Given the description of an element on the screen output the (x, y) to click on. 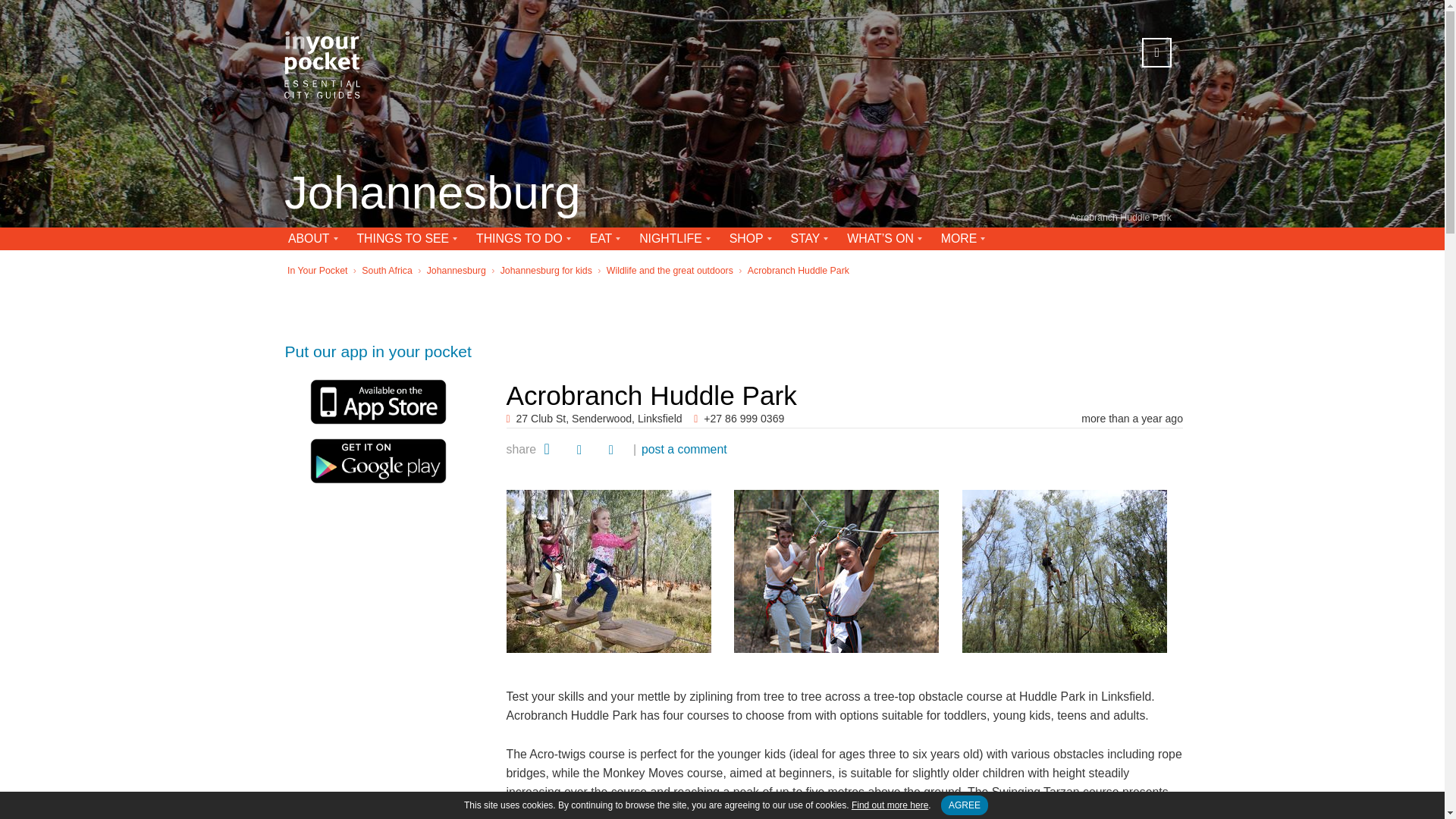
Advertisement (845, 325)
post a comment (684, 448)
Johannesburg (431, 194)
